Given the description of an element on the screen output the (x, y) to click on. 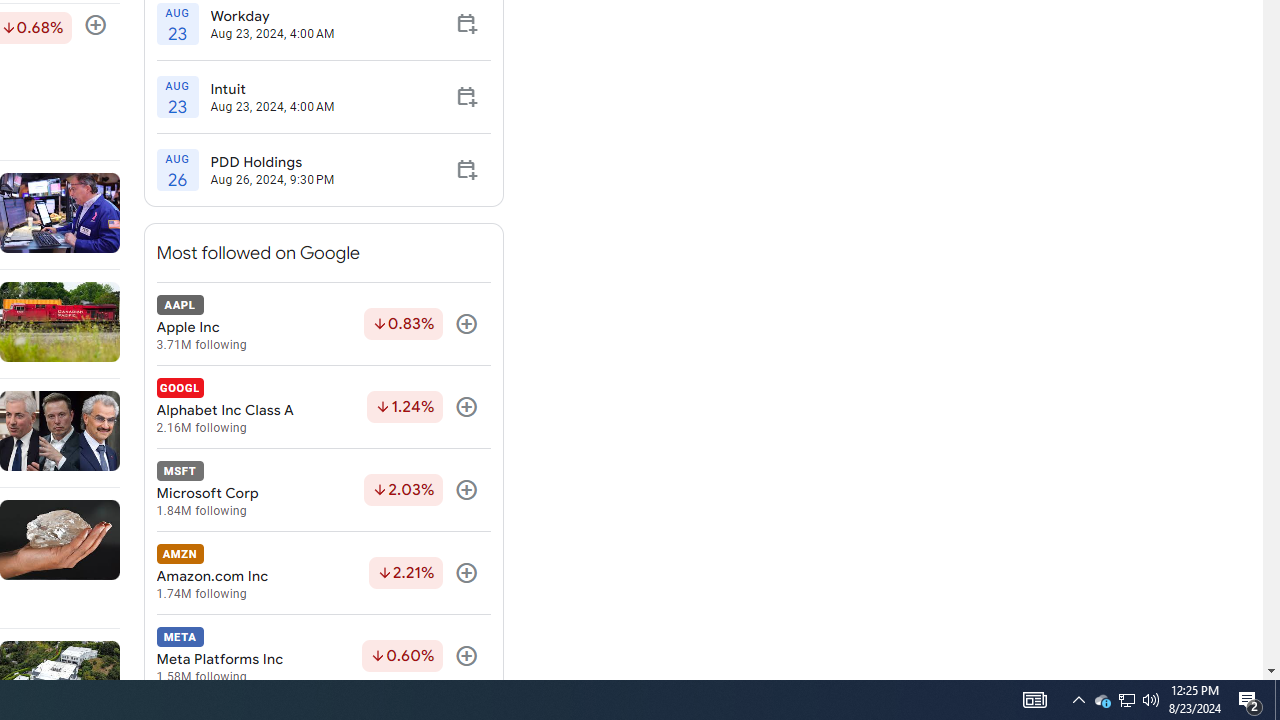
MSFT Microsoft Corp 1.84M following Down by 2.03% Follow (323, 490)
Add to calendar (466, 169)
Intuit (272, 89)
META Meta Platforms Inc 1.58M following Down by 0.60% Follow (323, 655)
Workday (272, 15)
AMZN Amazon.com Inc 1.74M following Down by 2.21% Follow (323, 573)
AAPL Apple Inc 3.71M following Down by 0.83% Follow (323, 323)
PDD Holdings (272, 161)
Follow (466, 656)
